Given the description of an element on the screen output the (x, y) to click on. 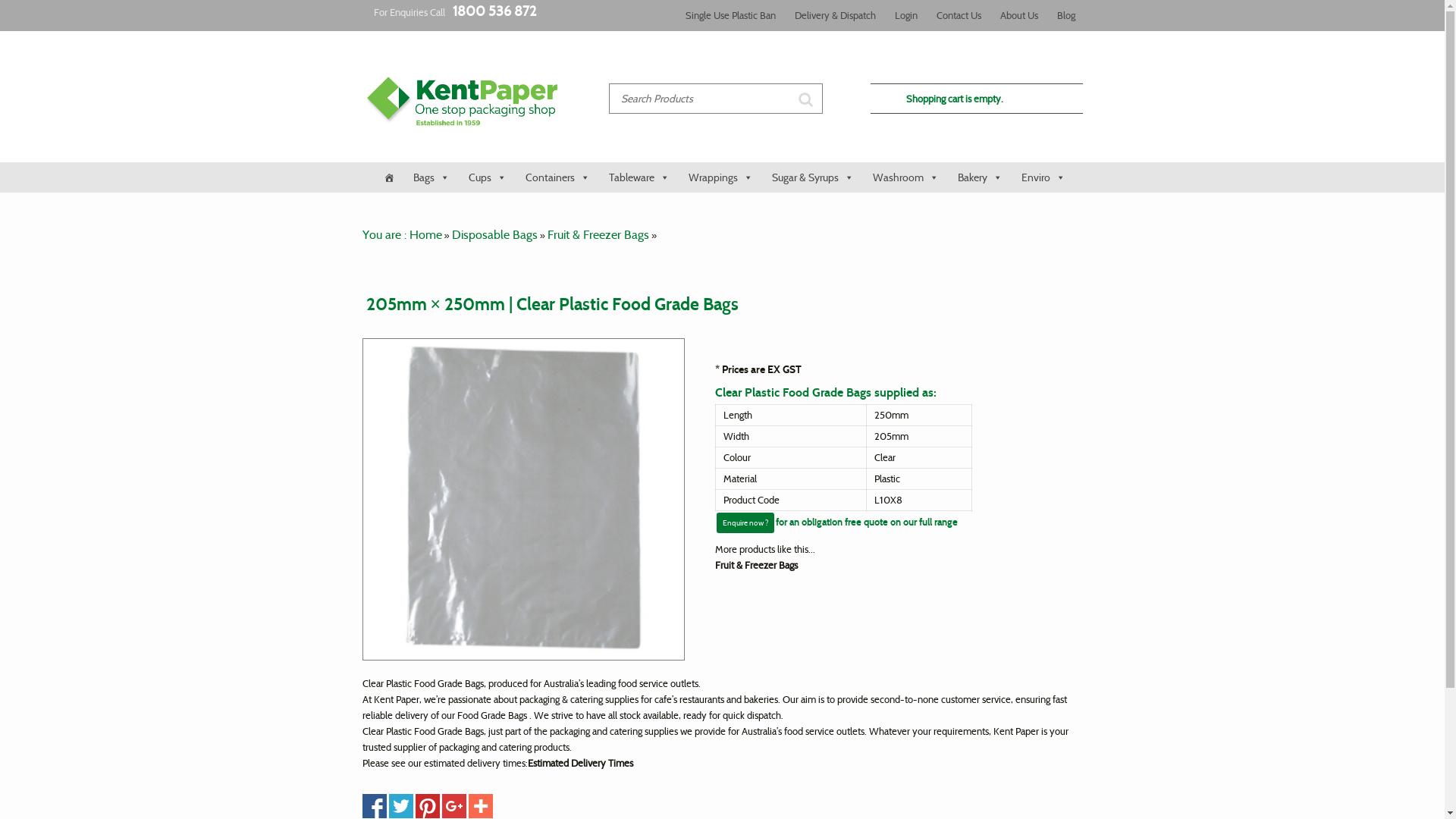
Bags Element type: text (429, 177)
Blog Element type: text (1065, 15)
Bakery Element type: text (978, 177)
Containers Element type: text (555, 177)
Enquire now ? Element type: text (744, 522)
Disposable Bags Element type: text (494, 234)
Login Element type: text (906, 15)
Estimated Delivery Times Element type: text (580, 762)
Fruit & Freezer Bags Element type: text (598, 234)
Enviro Element type: text (1041, 177)
    Shopping cart is empty. Element type: text (975, 98)
Tableware Element type: text (637, 177)
Cups Element type: text (484, 177)
Delivery & Dispatch Element type: text (835, 15)
Contact Us Element type: text (958, 15)
  For Enquiries Call 1800 536 872 Element type: text (452, 11)
You are : Home Element type: text (402, 234)
Single Use Plastic Ban Element type: text (730, 15)
Fruit & Freezer Bags Element type: text (755, 564)
Sugar & Syrups Element type: text (809, 177)
Clear Plastic Food Grade Bags Element type: hover (523, 499)
About Us Element type: text (1017, 15)
Wrappings Element type: text (717, 177)
Washroom Element type: text (903, 177)
